Given the description of an element on the screen output the (x, y) to click on. 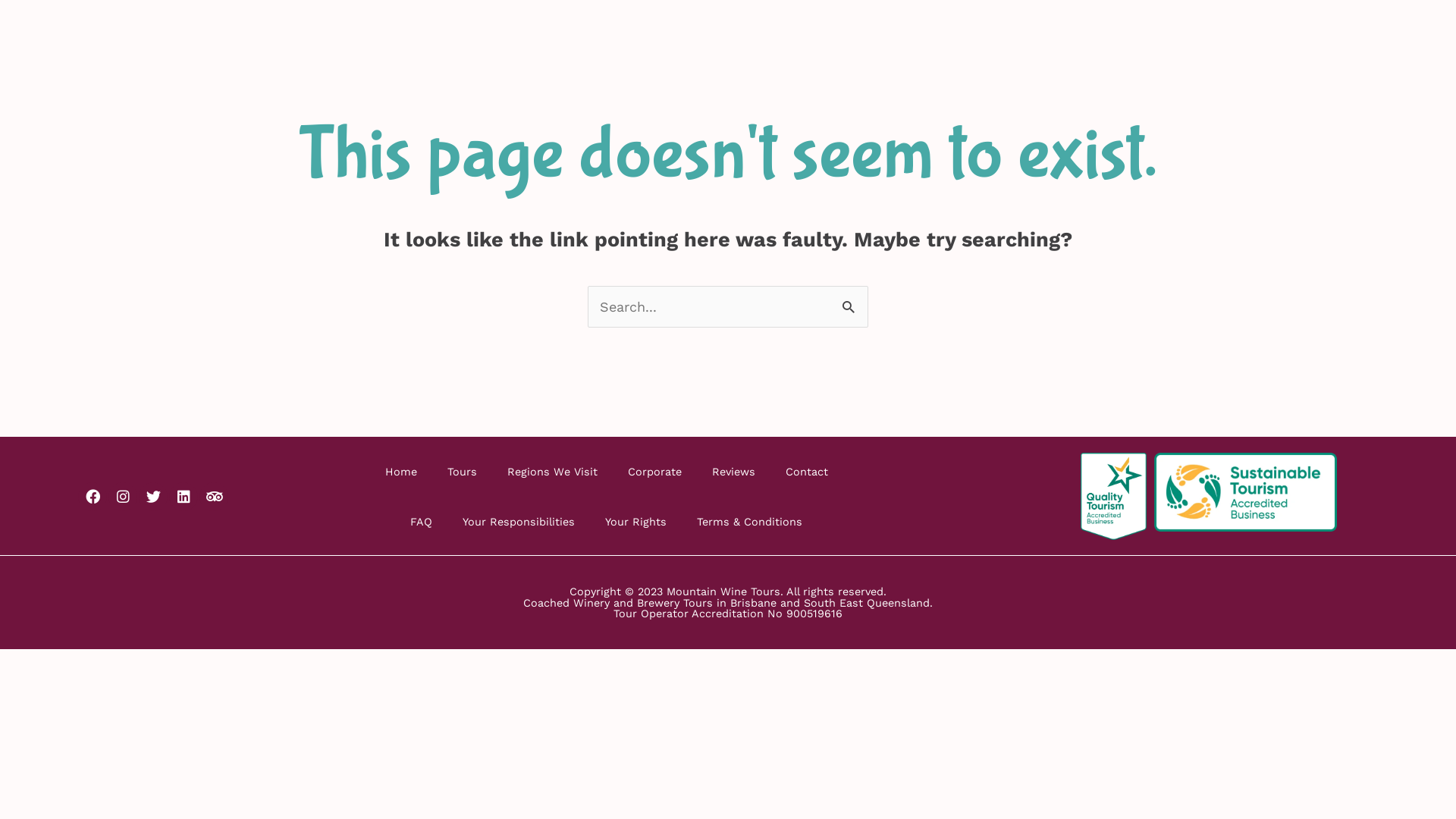
Corporate Element type: text (654, 471)
Search Element type: text (851, 300)
Contact Element type: text (806, 471)
Regions We Visit Element type: text (552, 471)
Tours Element type: text (462, 471)
FAQ Element type: text (421, 521)
Terms & Conditions Element type: text (749, 521)
Your Responsibilities Element type: text (518, 521)
Reviews Element type: text (733, 471)
Your Rights Element type: text (635, 521)
Home Element type: text (401, 471)
